Given the description of an element on the screen output the (x, y) to click on. 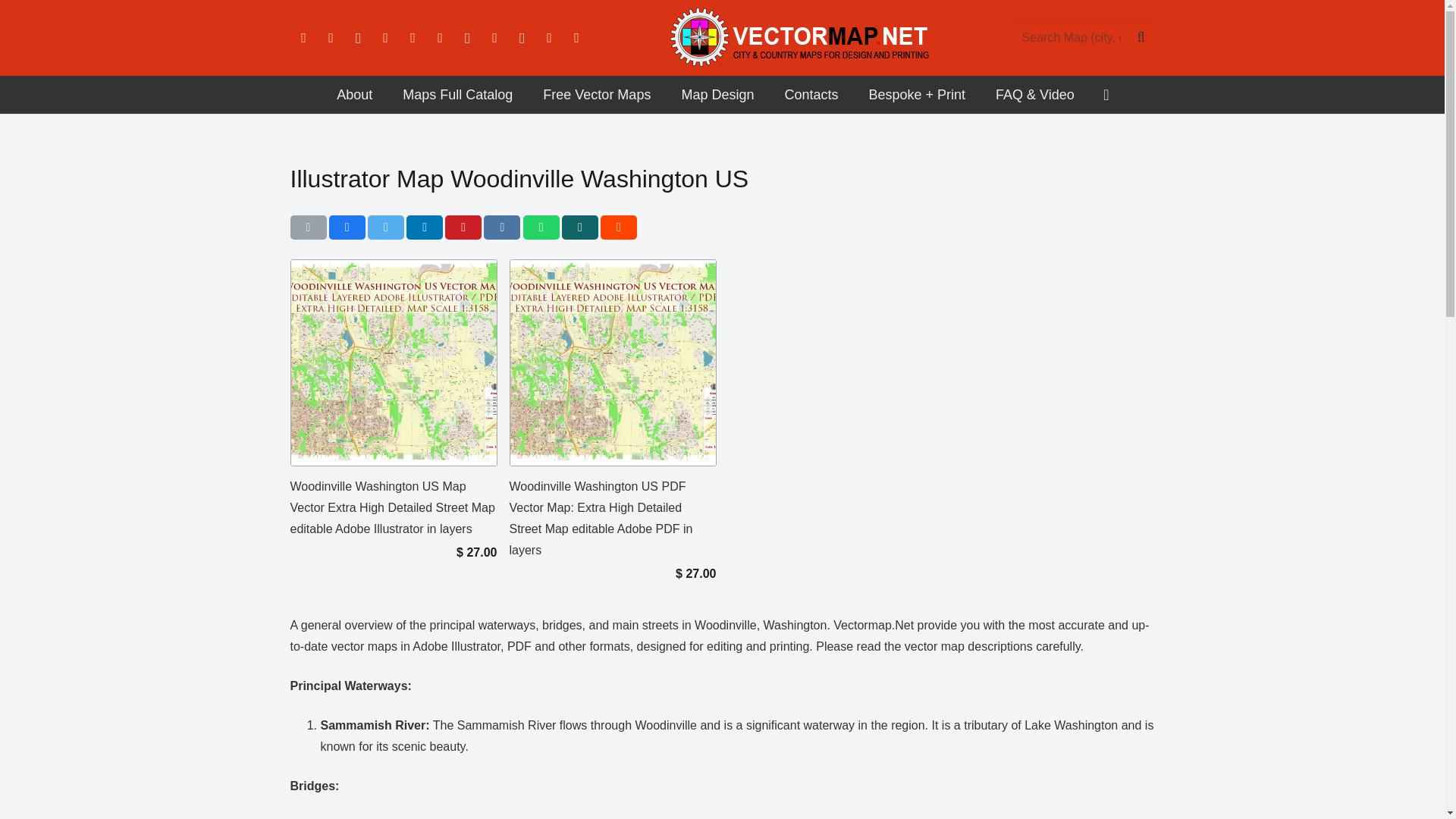
Maps Full Catalog (457, 94)
LinkedIn (384, 37)
EBAY (575, 37)
About (354, 94)
ETSY SHOP (548, 37)
Reddit (466, 37)
Pinterest (494, 37)
Telegram (521, 37)
YouTube (412, 37)
Amazon (439, 37)
Facebook (303, 37)
Instagram (357, 37)
Twitter (330, 37)
Vector Map Developers (354, 94)
